Given the description of an element on the screen output the (x, y) to click on. 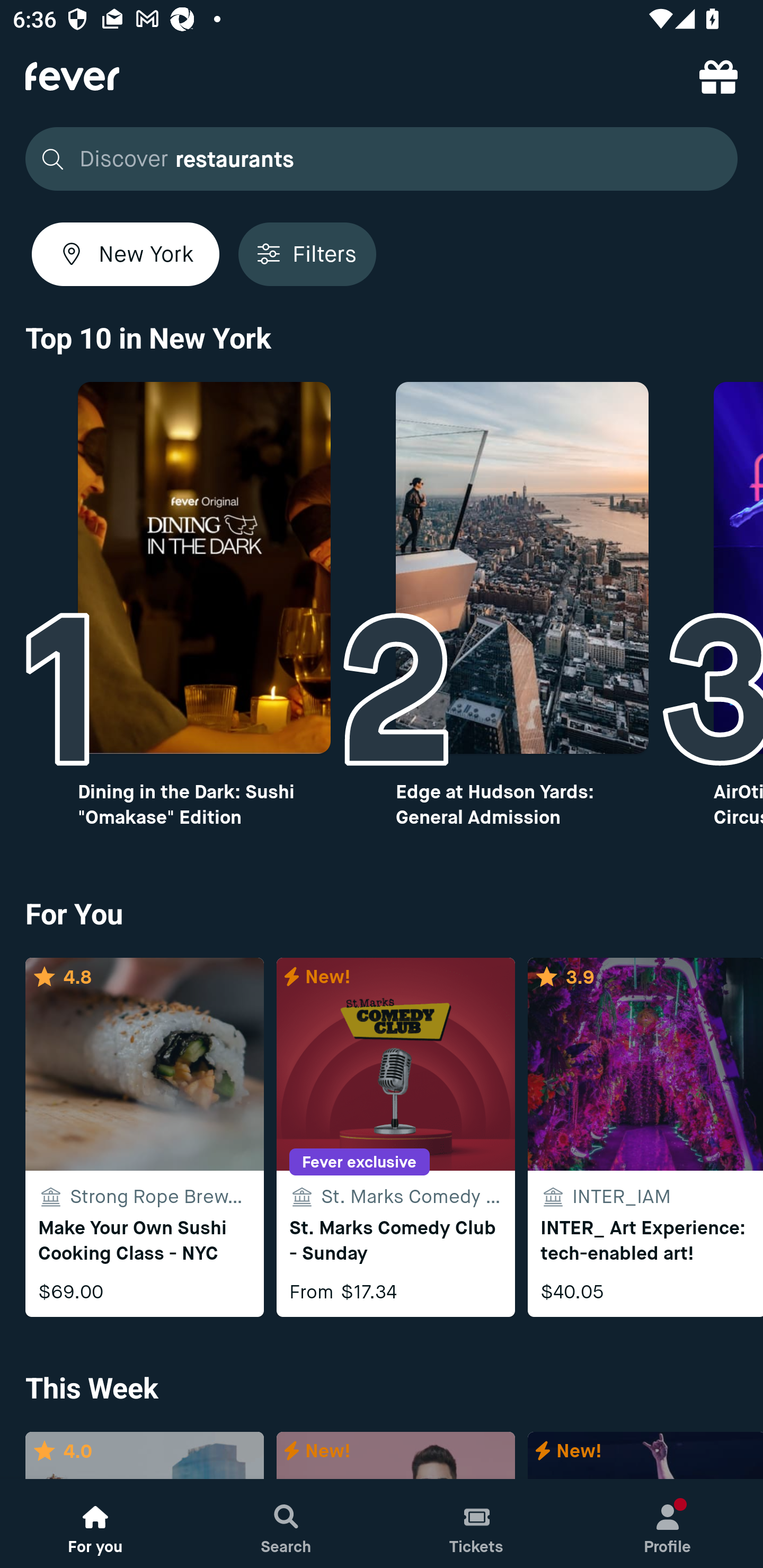
referral (718, 75)
Discover restaurants (381, 158)
Discover restaurants (376, 158)
New York (125, 253)
Filters (307, 253)
Top10 image (203, 568)
Top10 image (521, 568)
Search (285, 1523)
Tickets (476, 1523)
Profile, New notification Profile (667, 1523)
